Given the description of an element on the screen output the (x, y) to click on. 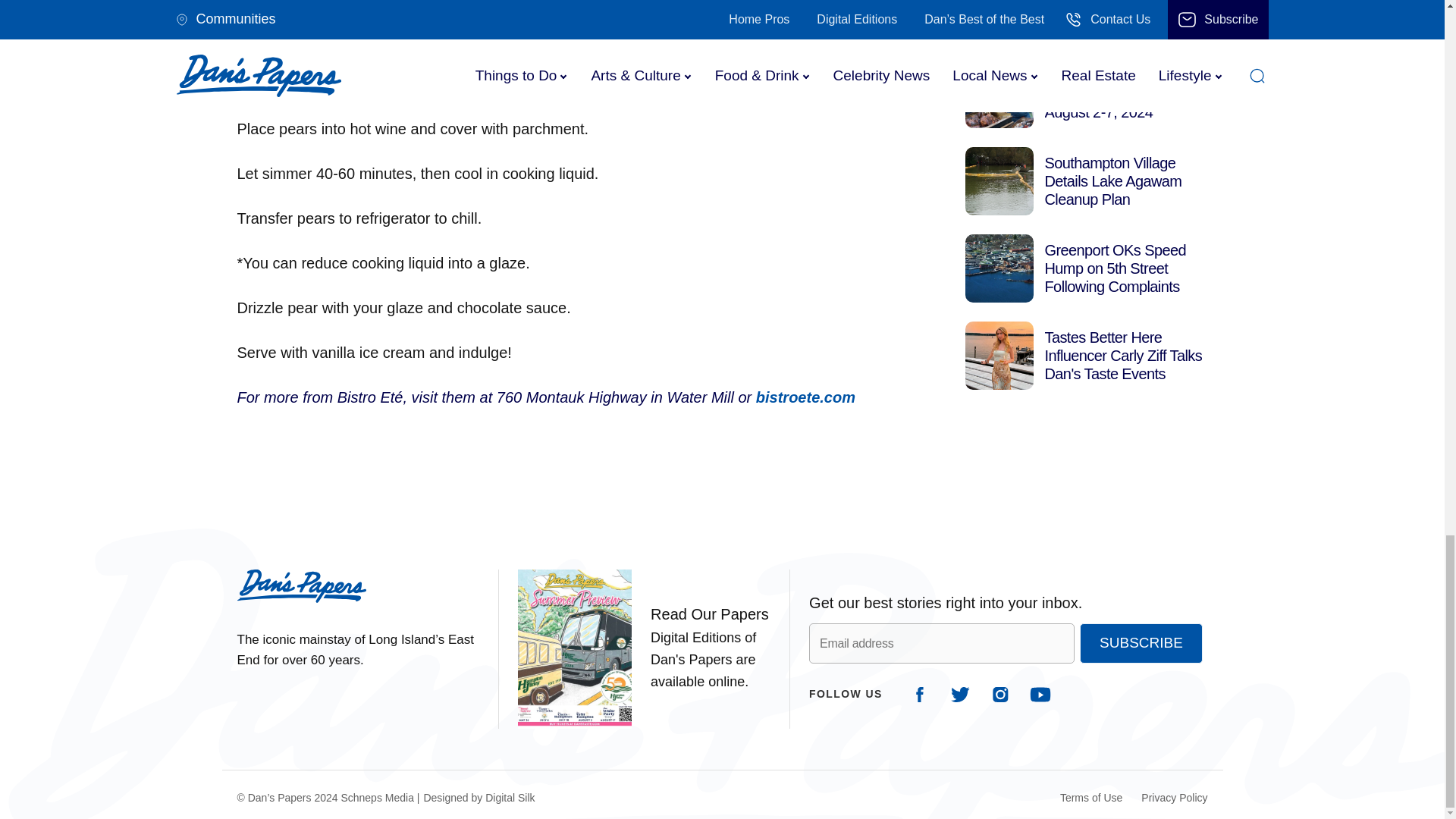
Subscribe (1141, 642)
